Given the description of an element on the screen output the (x, y) to click on. 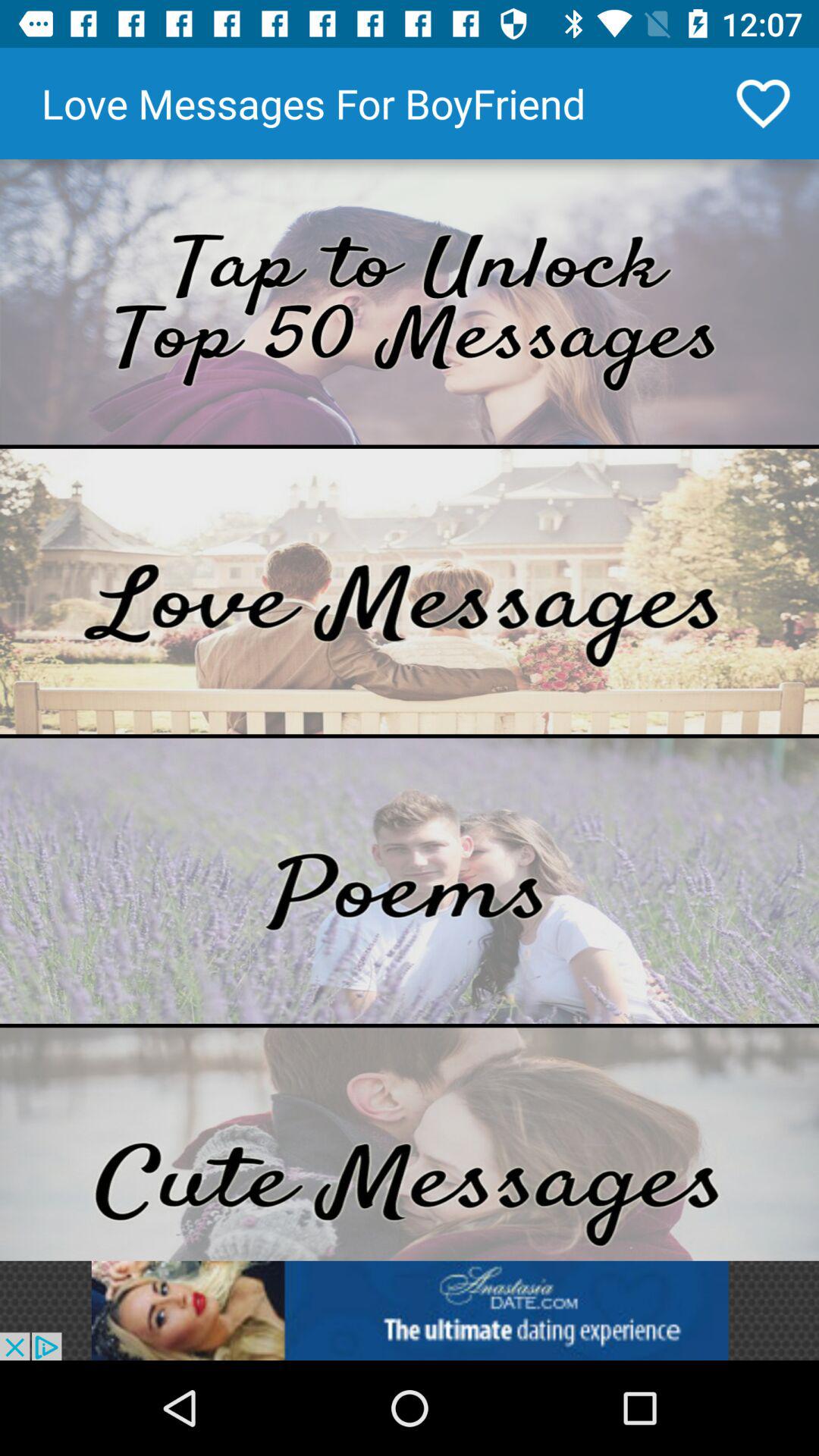
love messages button (409, 591)
